Given the description of an element on the screen output the (x, y) to click on. 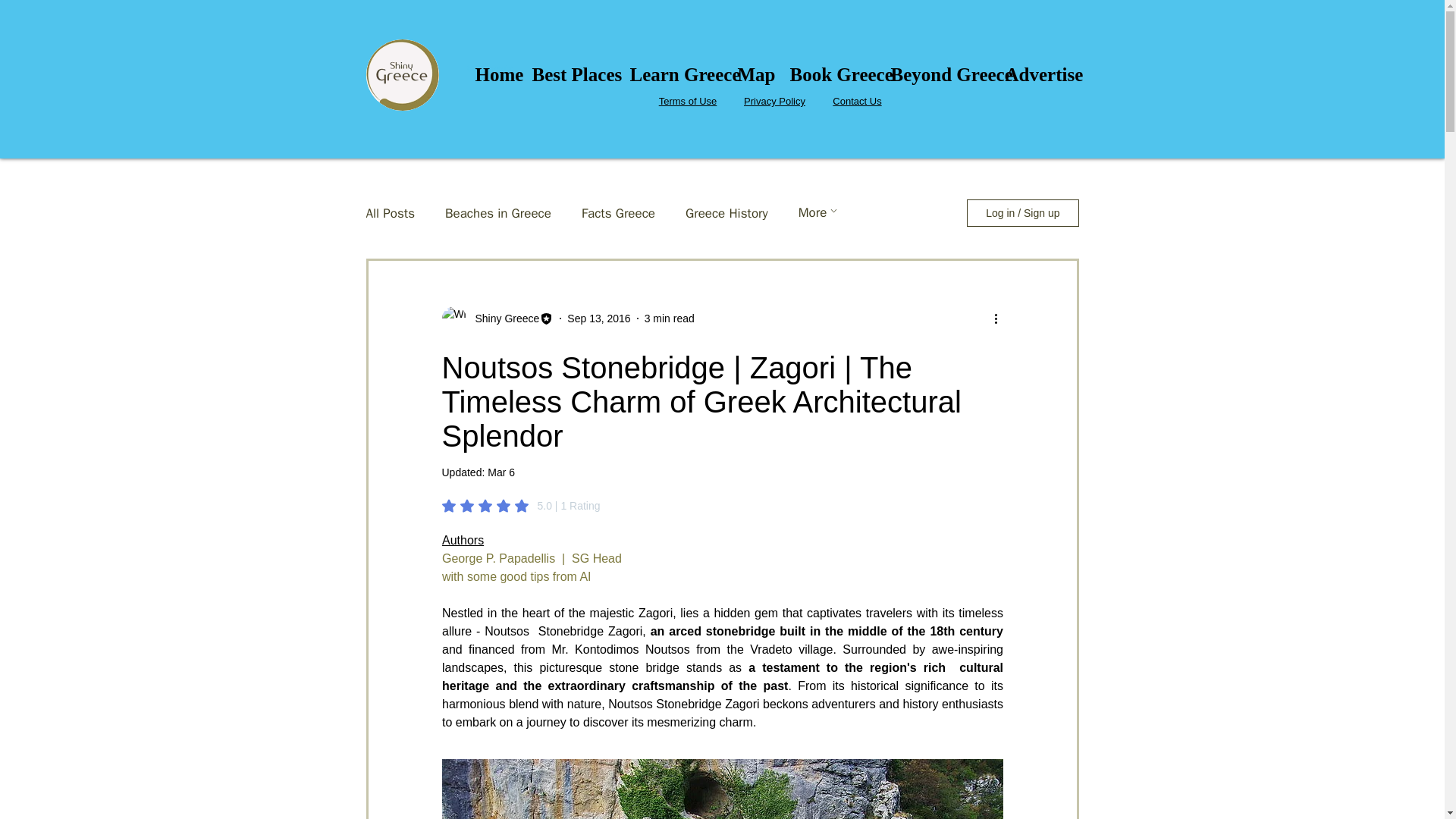
Beaches in Greece (498, 212)
Book Greece (828, 74)
Learn Greece (672, 74)
All Posts (389, 212)
Shiny Greece (501, 318)
Terms of Use (688, 101)
Sep 13, 2016 (598, 318)
Facts Greece (617, 212)
Advertise (1033, 74)
Home (492, 74)
